Given the description of an element on the screen output the (x, y) to click on. 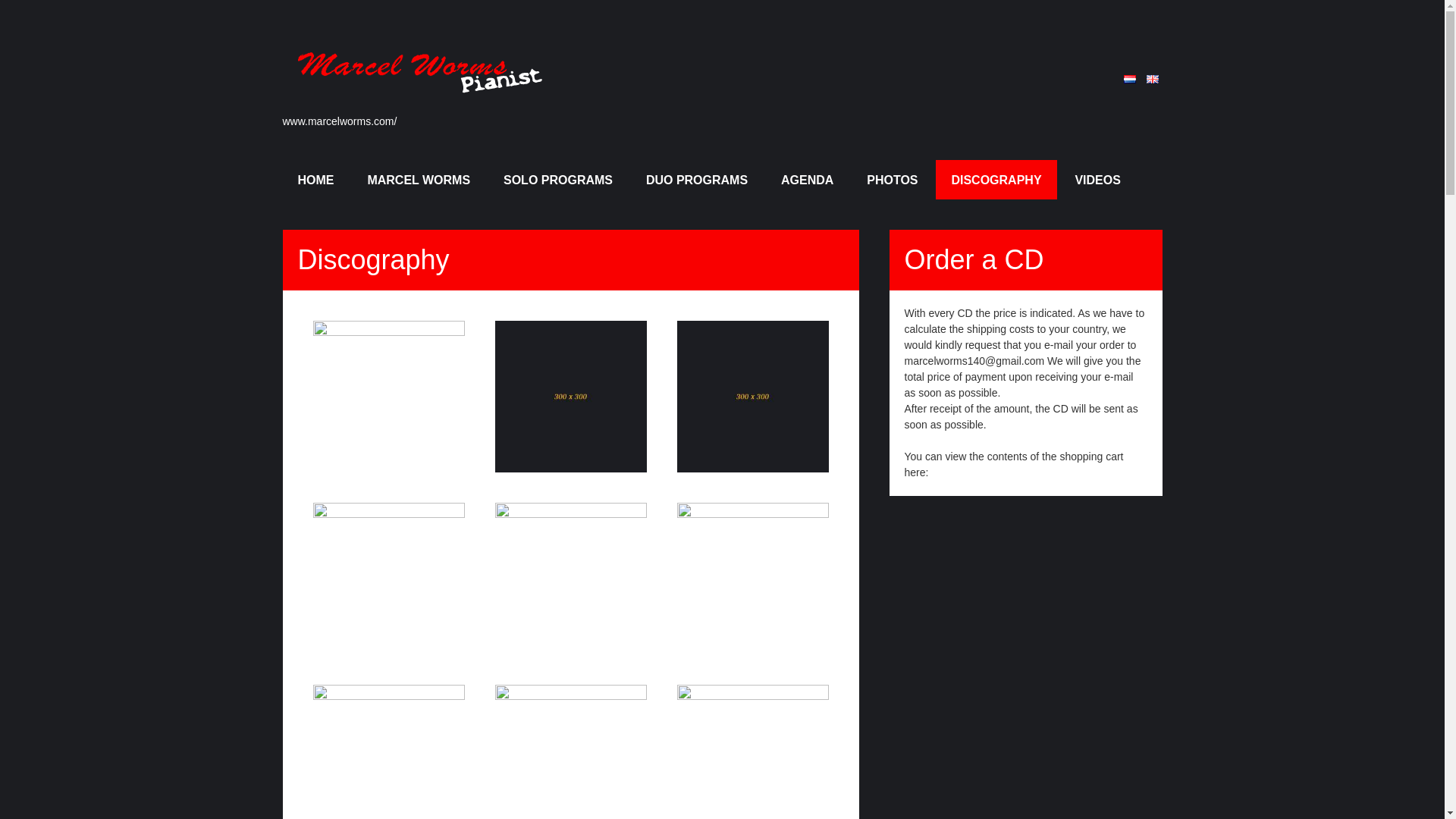
SOLO PROGRAMS (557, 179)
DISCOGRAPHY (996, 179)
AGENDA (806, 179)
DUO PROGRAMS (696, 179)
HOME (315, 179)
PHOTOS (892, 179)
VIDEOS (1097, 179)
MARCEL WORMS (418, 179)
